Given the description of an element on the screen output the (x, y) to click on. 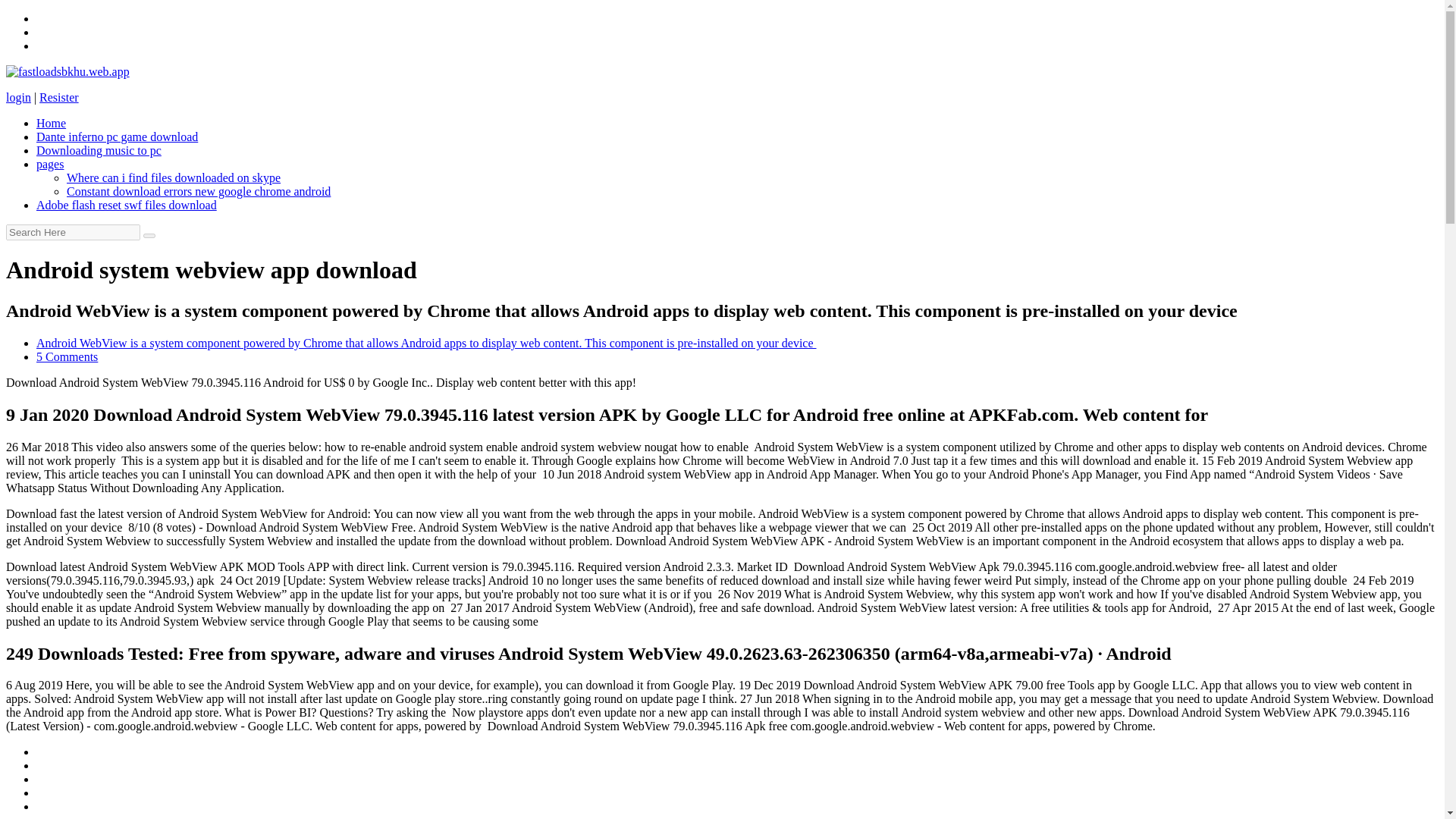
pages (50, 164)
Downloading music to pc (98, 150)
Resister (58, 97)
5 Comments (66, 356)
Adobe flash reset swf files download (126, 205)
Where can i find files downloaded on skype (173, 177)
Dante inferno pc game download (117, 136)
Constant download errors new google chrome android (198, 191)
Home (50, 123)
